Given the description of an element on the screen output the (x, y) to click on. 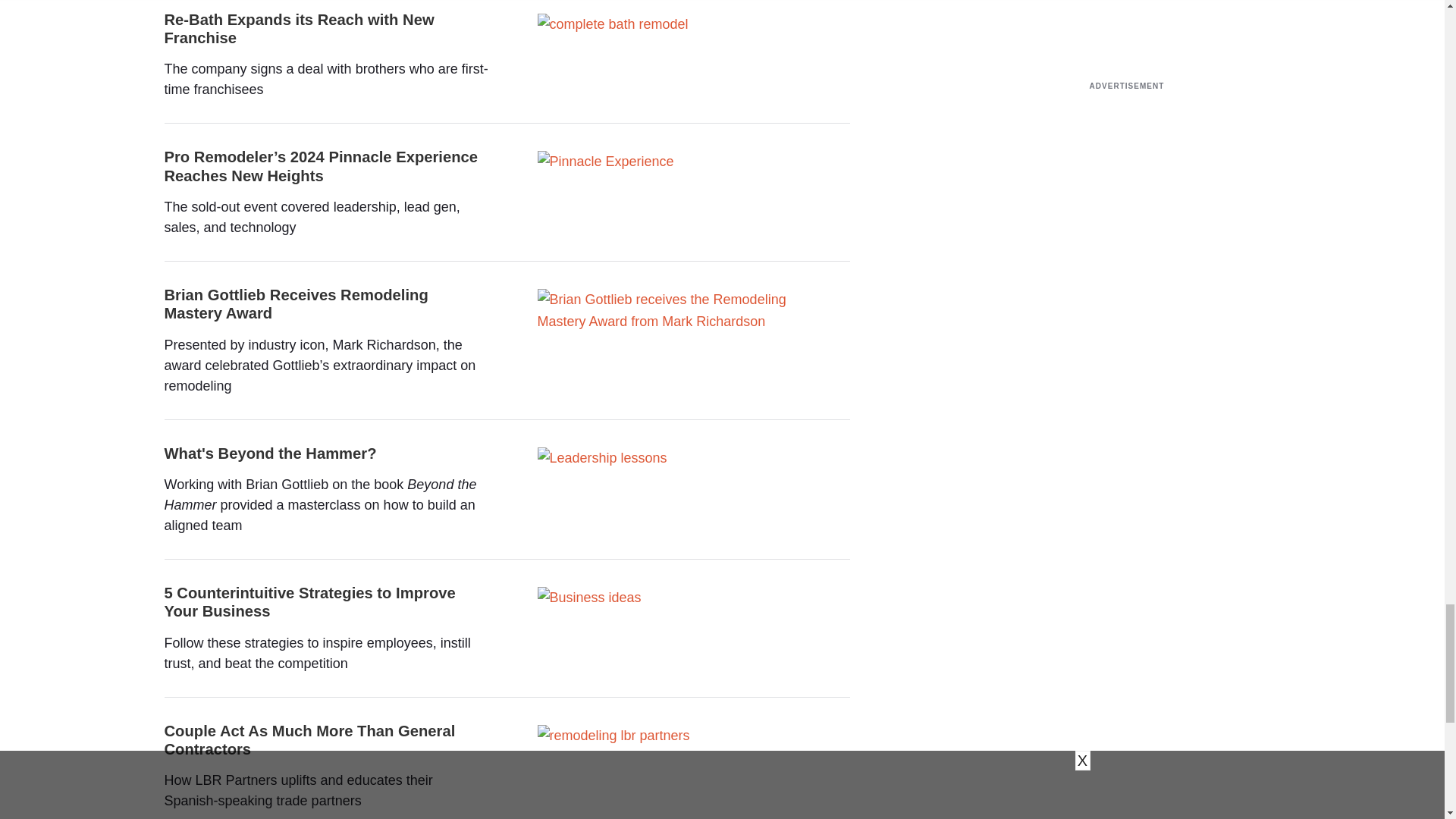
Adobe Stock Image (588, 597)
Photo credit: Re-Bath (612, 24)
